Given the description of an element on the screen output the (x, y) to click on. 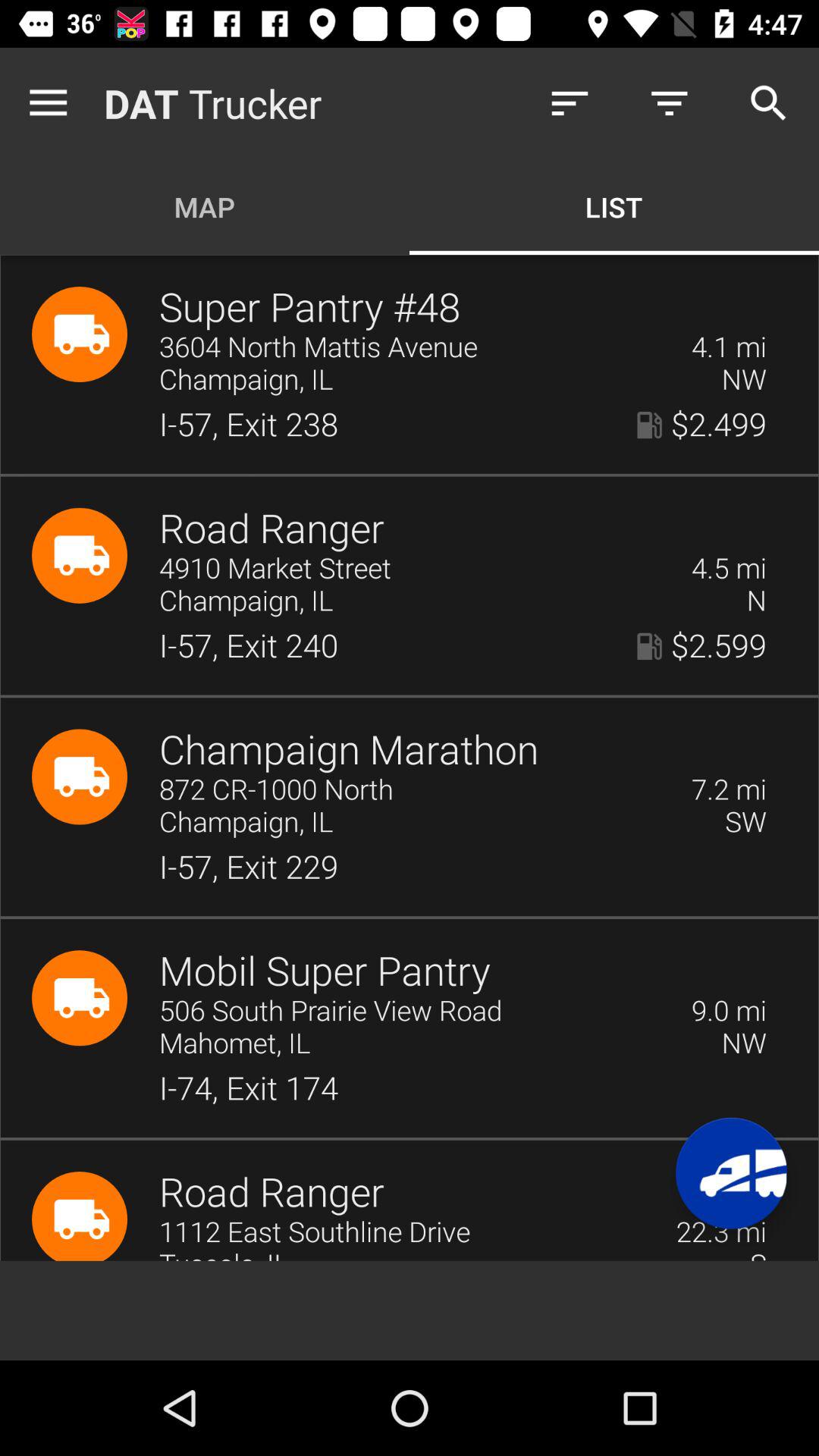
tap icon below road ranger icon (415, 568)
